Given the description of an element on the screen output the (x, y) to click on. 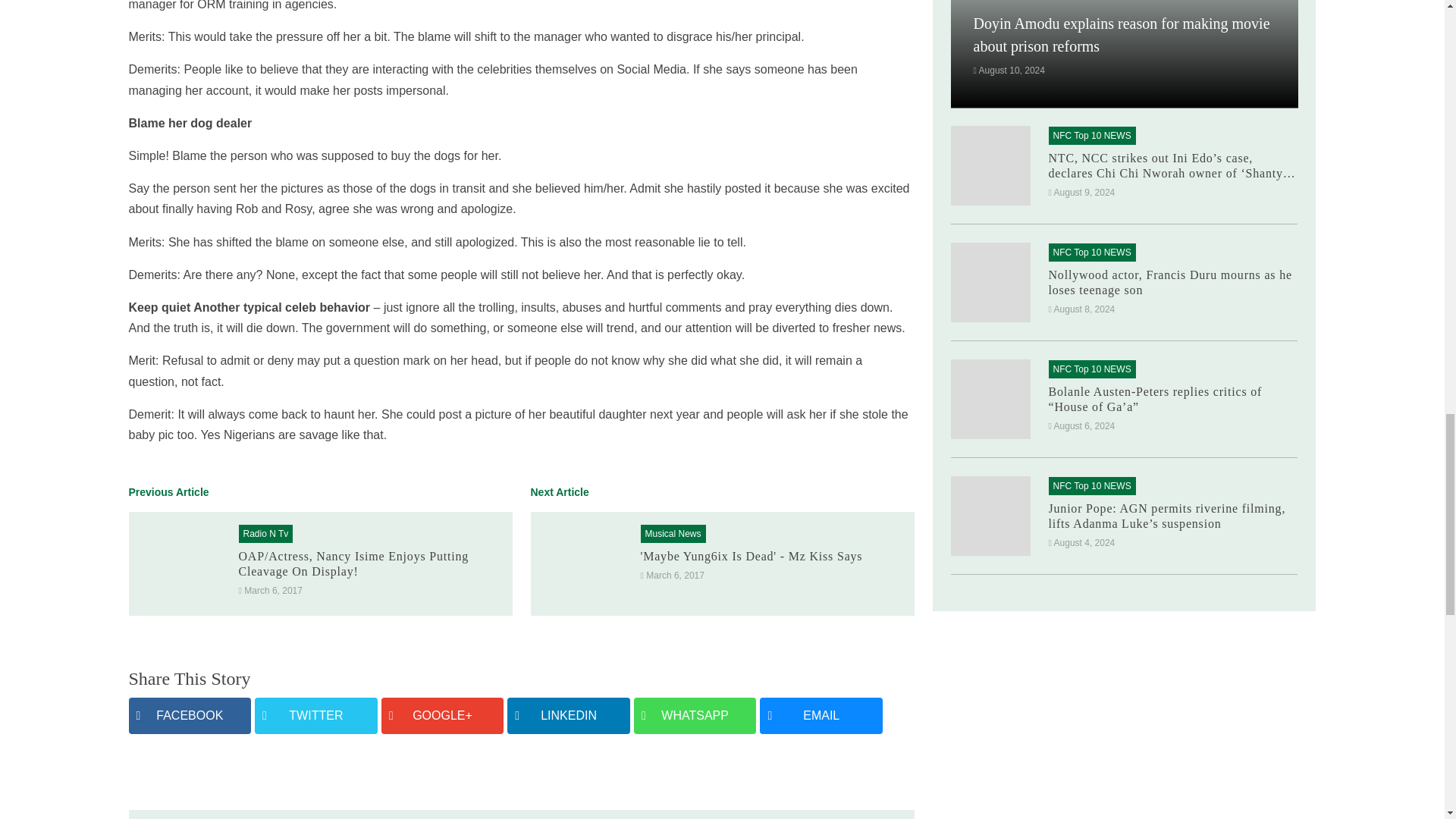
googleplus (442, 715)
whatsapp (695, 715)
Musical News (672, 533)
Radio N Tv (265, 533)
FACEBOOK (190, 715)
'Maybe Yung6ix Is Dead' - Mz Kiss Says (750, 555)
'Maybe Yung6ix Is Dead' - Mz Kiss Says (750, 555)
Musical News (672, 533)
'Maybe Yung6ix Is Dead' - Mz Kiss Says (583, 562)
facebook (190, 715)
